Given the description of an element on the screen output the (x, y) to click on. 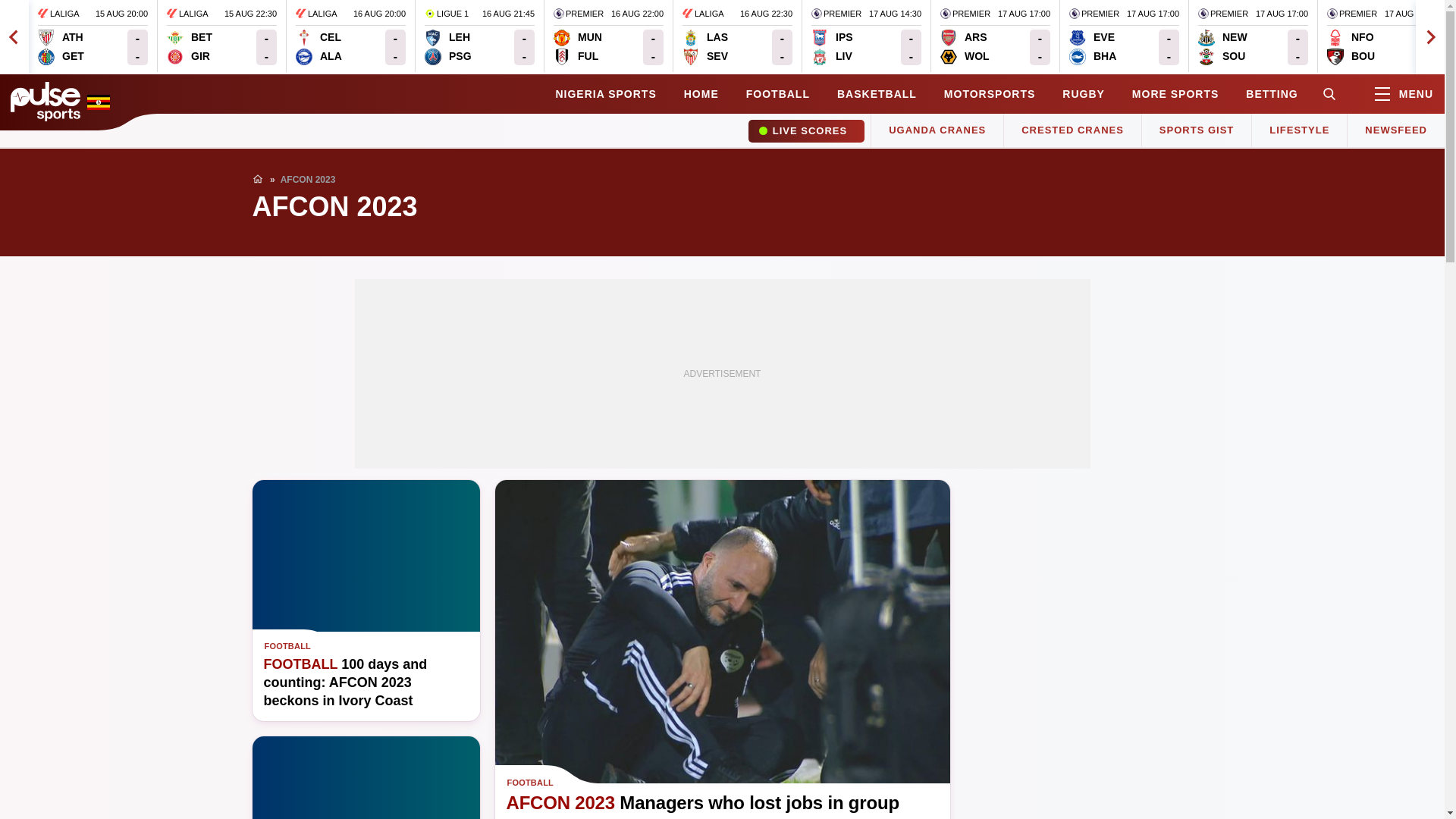
Celta Vigo - Deportivo Alaves (318, 47)
Ligue 1 (1252, 36)
Manchester United - Fulham (446, 13)
Real Betis - Girona (577, 47)
Ipswich Town - Liverpool (349, 36)
Arsenal - Wolverhampton Wanderers (478, 36)
Premier League (189, 47)
